Given the description of an element on the screen output the (x, y) to click on. 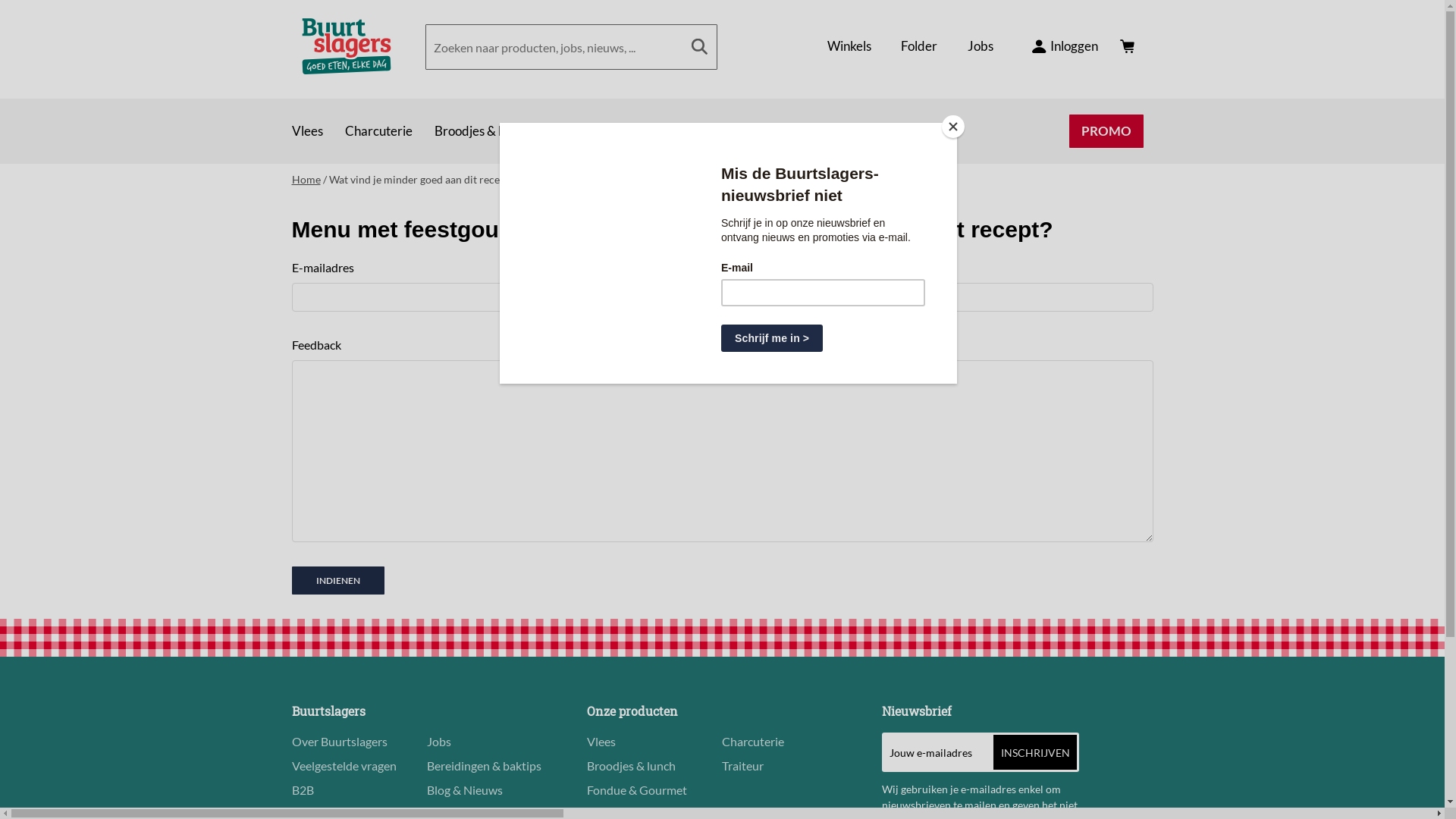
Over Buurtslagers Element type: text (338, 741)
Fondue & Gourmet Element type: text (636, 789)
Veelgestelde vragen Element type: text (343, 765)
Inschrijven Element type: text (1034, 751)
Winkels Element type: text (848, 46)
Charcuterie Element type: text (752, 741)
Home Element type: hover (345, 45)
PROMO Element type: text (1106, 131)
Fondue & Gourmet Element type: text (671, 131)
Bereidingen & baktips Element type: text (483, 765)
Broodjes & lunch Element type: text (481, 131)
Toepassen Element type: text (699, 46)
Vlees Element type: text (307, 131)
Vlees Element type: text (600, 741)
Blog & Nieuws Element type: text (464, 789)
Home Element type: text (305, 178)
B2B Element type: text (302, 789)
Traiteur Element type: text (573, 131)
Traiteur Element type: text (742, 765)
Folder Element type: text (919, 46)
Inloggen Element type: text (1064, 46)
Broodjes & lunch Element type: text (630, 765)
Jobs Element type: text (438, 741)
Indienen Element type: text (337, 580)
Charcuterie Element type: text (379, 131)
Jobs Element type: text (979, 46)
